Given the description of an element on the screen output the (x, y) to click on. 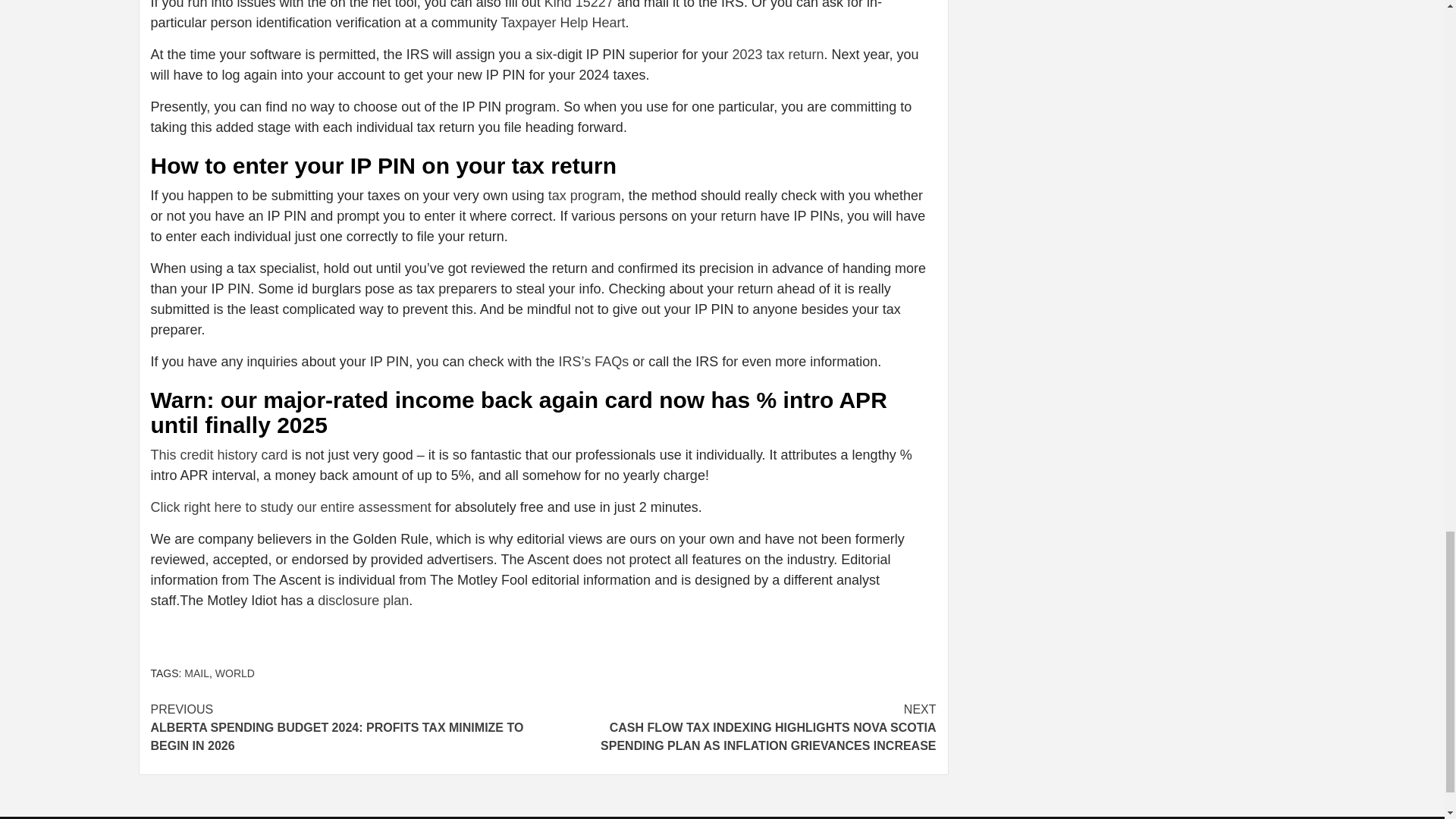
MAIL (196, 673)
Taxpayer Help Heart (562, 22)
Click right here to study our entire assessment (289, 507)
WORLD (234, 673)
Kind 15227 (578, 4)
This credit history card (217, 454)
disclosure plan (363, 600)
2023 tax return (778, 54)
tax program (584, 195)
